Given the description of an element on the screen output the (x, y) to click on. 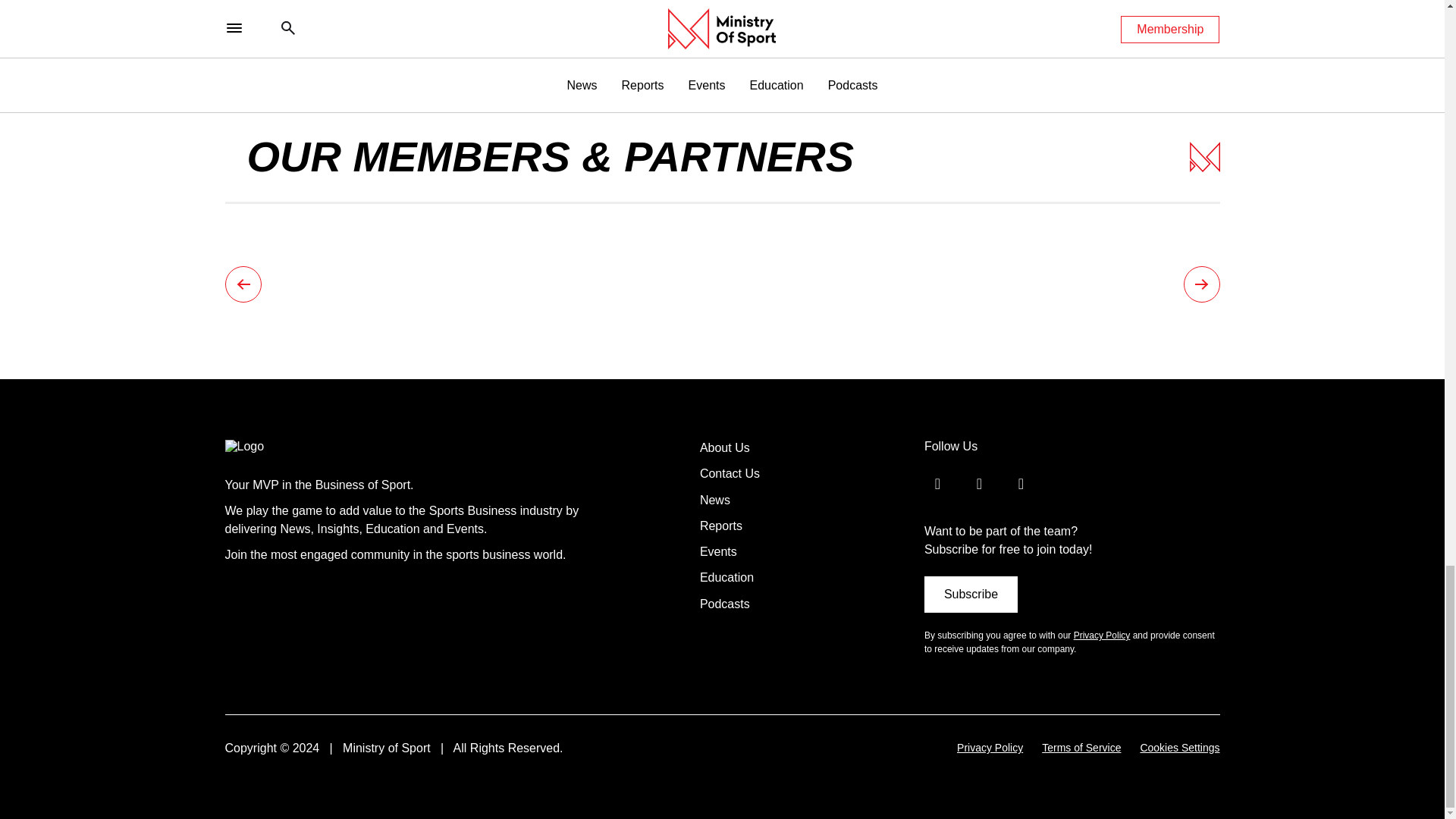
Ministry of Sport (275, 446)
